Given the description of an element on the screen output the (x, y) to click on. 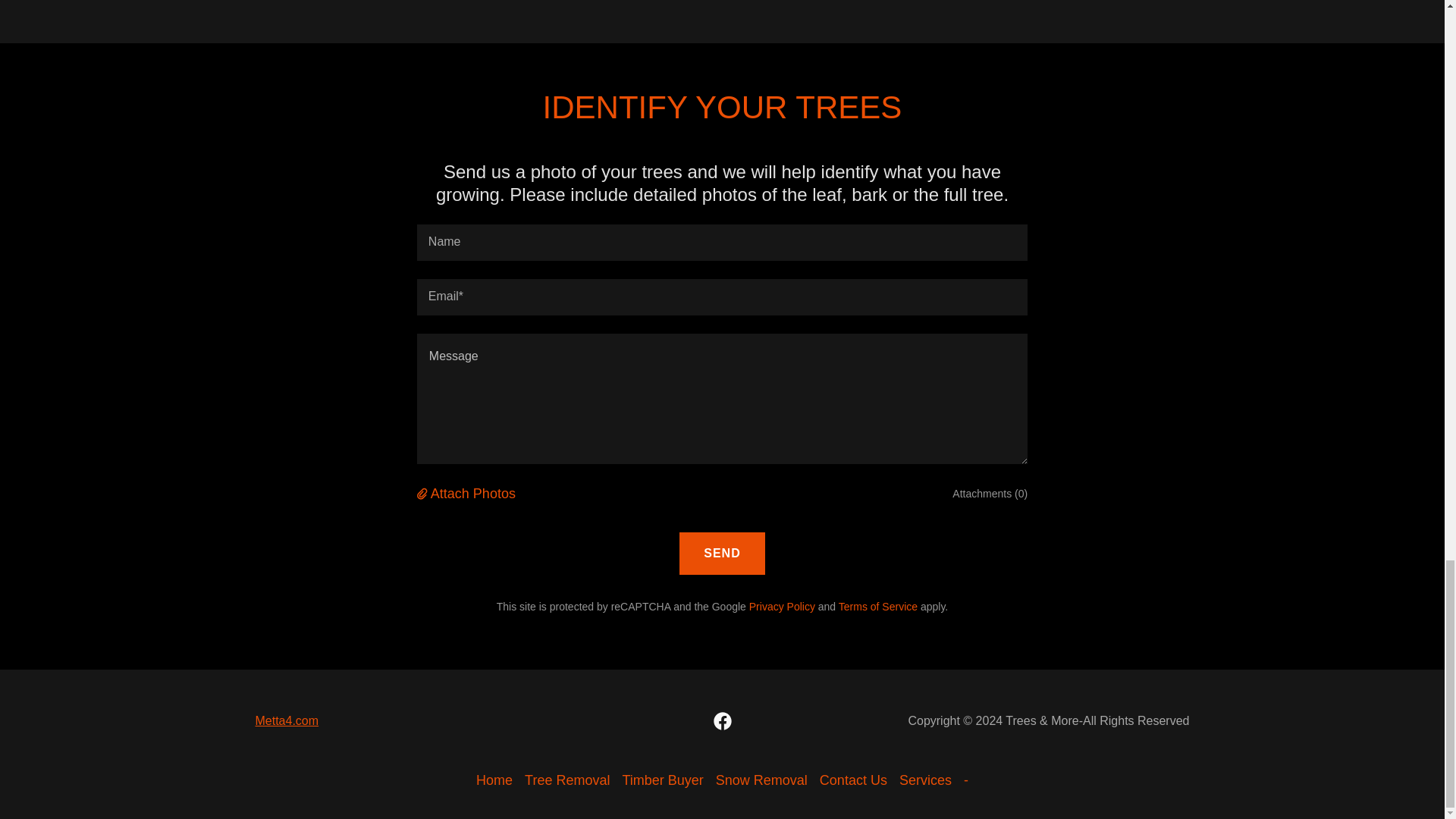
Contact Us (853, 780)
Home (494, 780)
SEND (721, 553)
Terms of Service (877, 606)
Timber Buyer (662, 780)
Snow Removal (761, 780)
Metta4.com (286, 720)
Services (925, 780)
Privacy Policy (782, 606)
Tree Removal (566, 780)
